Given the description of an element on the screen output the (x, y) to click on. 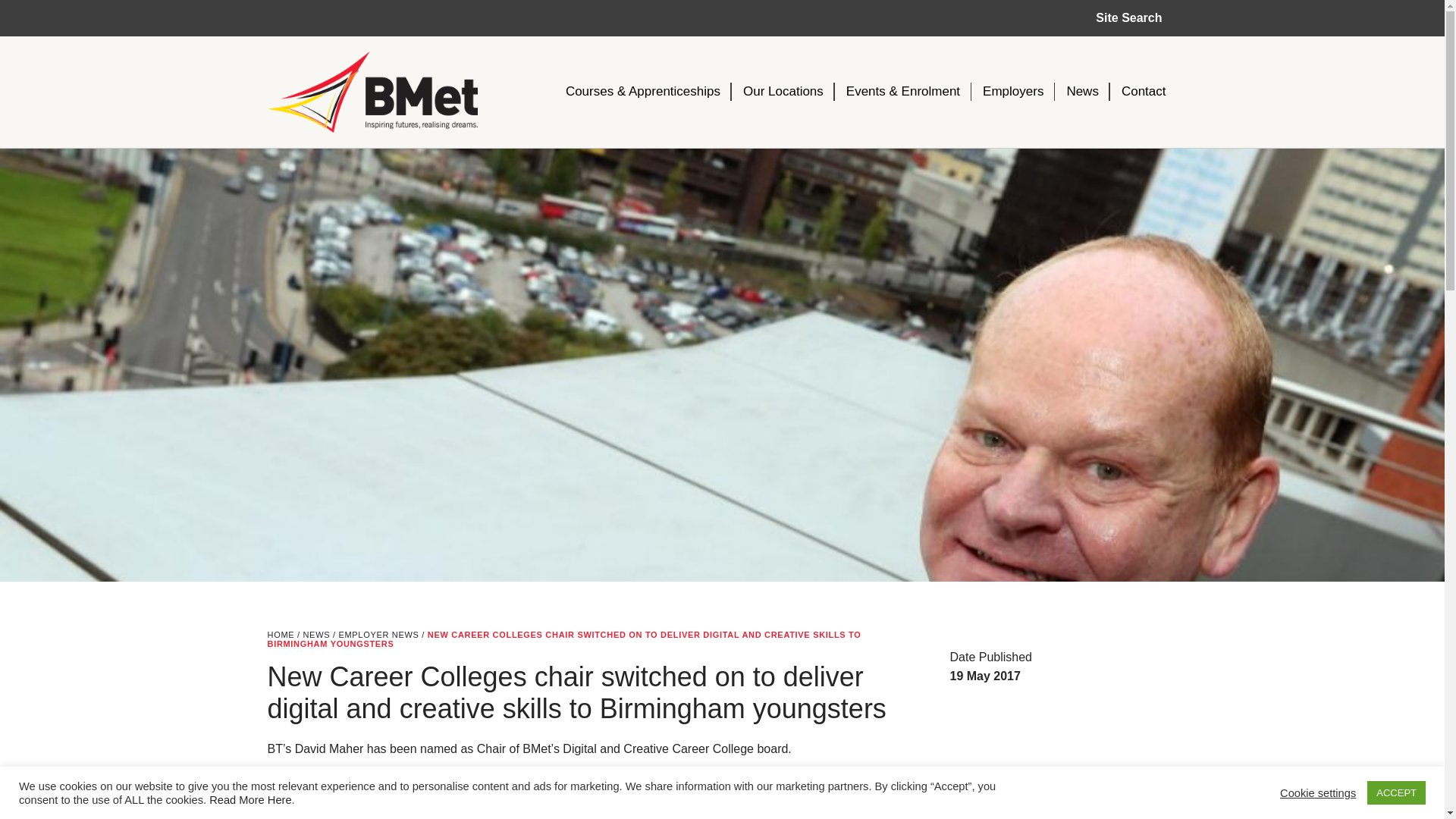
Go to the Employer News category archives. (378, 634)
Go to News. (316, 634)
Go to BMet. (280, 634)
Site Search (1128, 17)
